Given the description of an element on the screen output the (x, y) to click on. 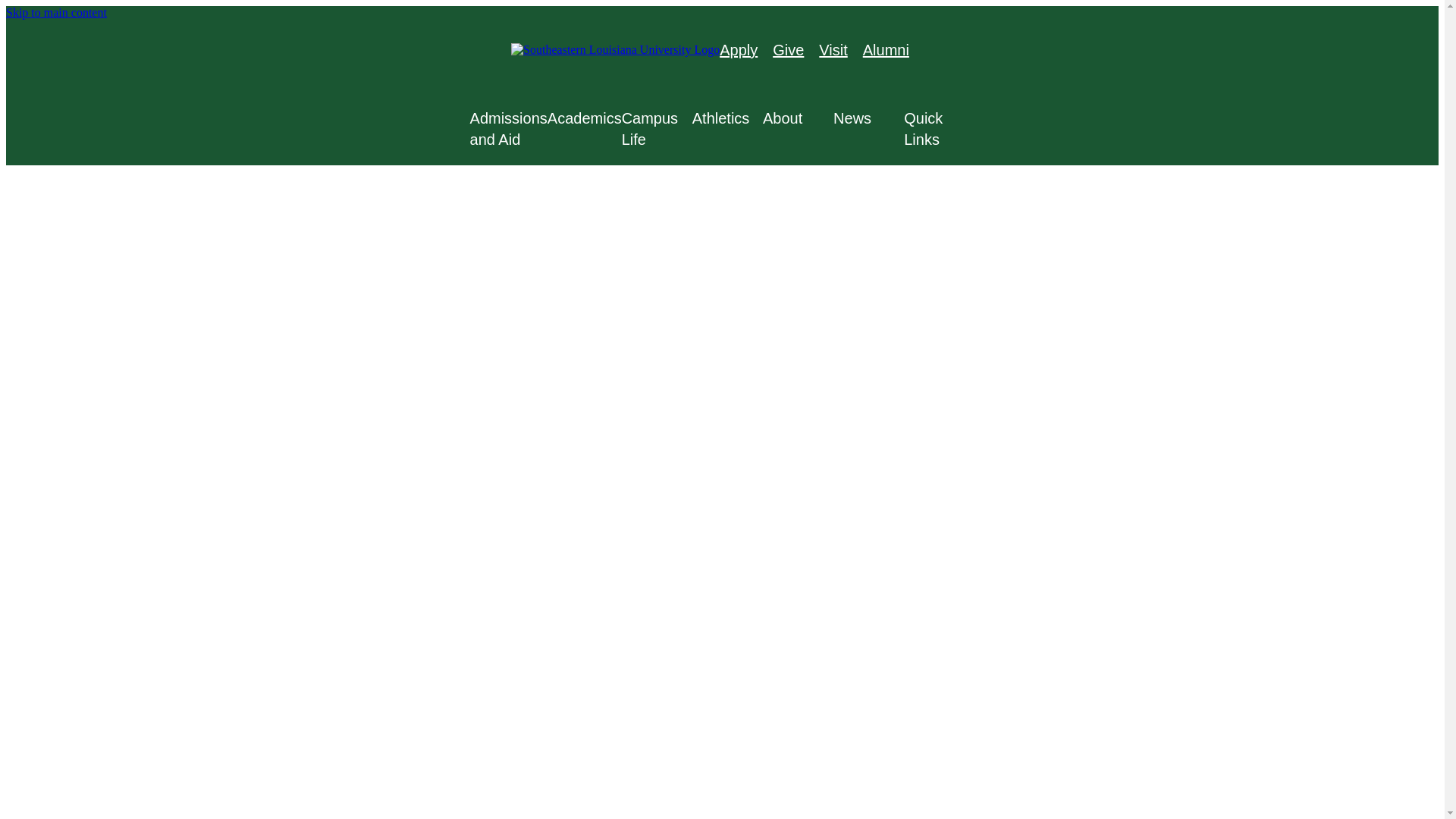
Admissions and Aid (508, 128)
Visit (832, 49)
Campus Life (657, 128)
Give (788, 49)
Academics (584, 117)
Alumni (885, 49)
Apply (738, 49)
